Given the description of an element on the screen output the (x, y) to click on. 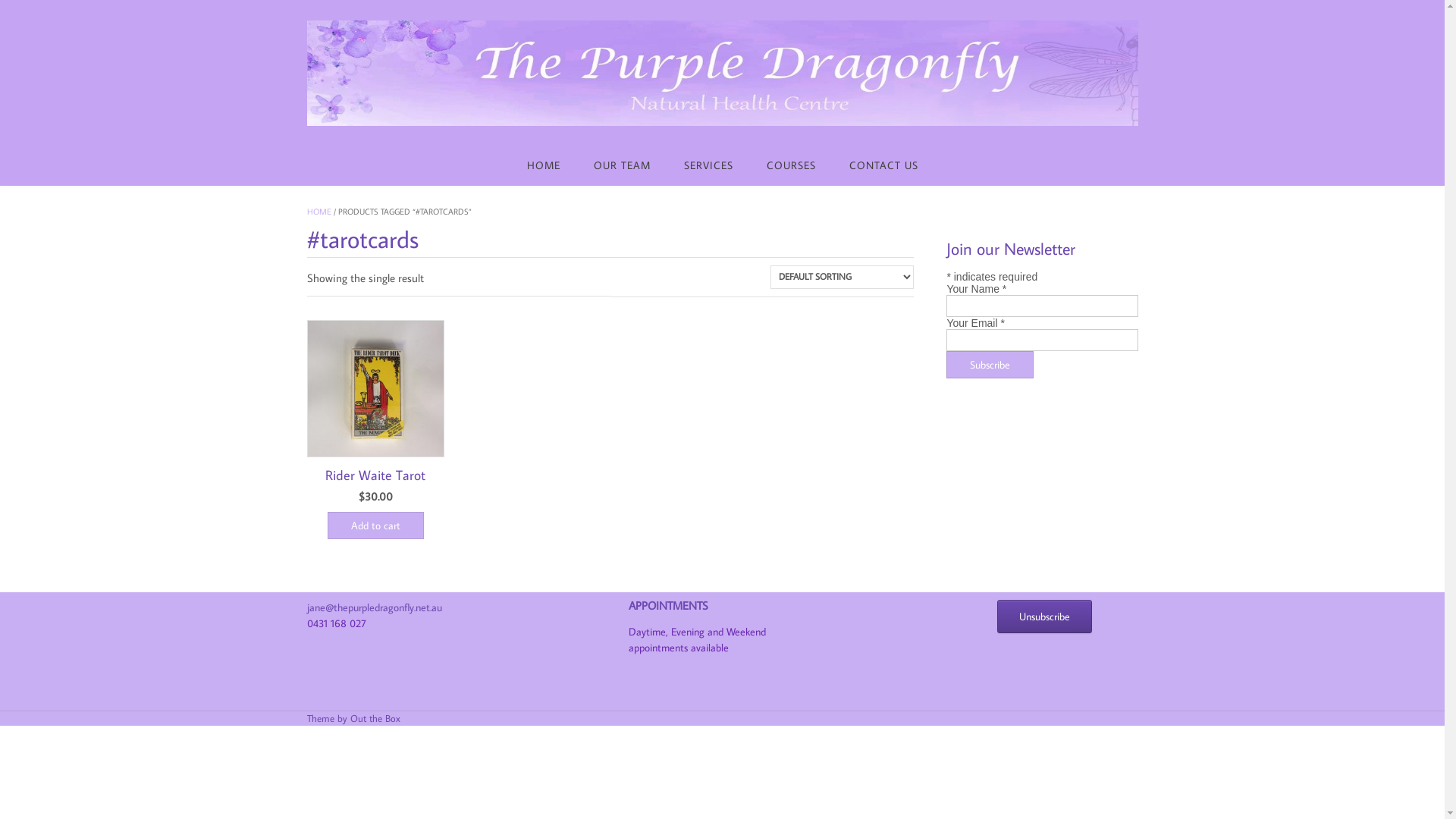
CONTACT US Element type: text (883, 164)
Add to cart Element type: text (375, 525)
HOME Element type: text (542, 164)
jane@thepurpledragonfly.net.au Element type: text (373, 607)
COURSES Element type: text (790, 164)
HOME Element type: text (318, 211)
Unsubscribe Element type: text (1044, 616)
SERVICES Element type: text (708, 164)
Subscribe Element type: text (989, 364)
Rider Waite Tarot
$30.00 Element type: text (374, 412)
OUR TEAM Element type: text (621, 164)
Out the Box Element type: text (375, 718)
